Given the description of an element on the screen output the (x, y) to click on. 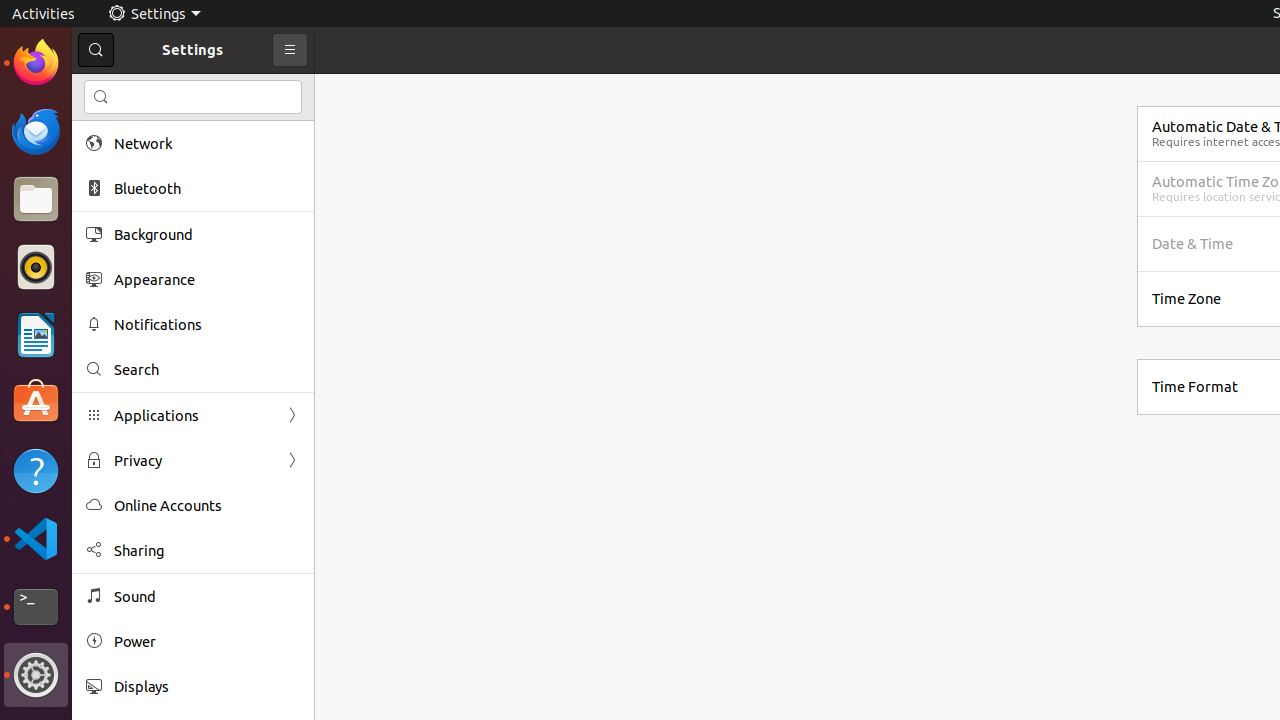
Primary Menu Element type: toggle-button (290, 50)
Trash Element type: label (133, 191)
Sharing Element type: label (207, 550)
Sound Element type: label (207, 596)
